Given the description of an element on the screen output the (x, y) to click on. 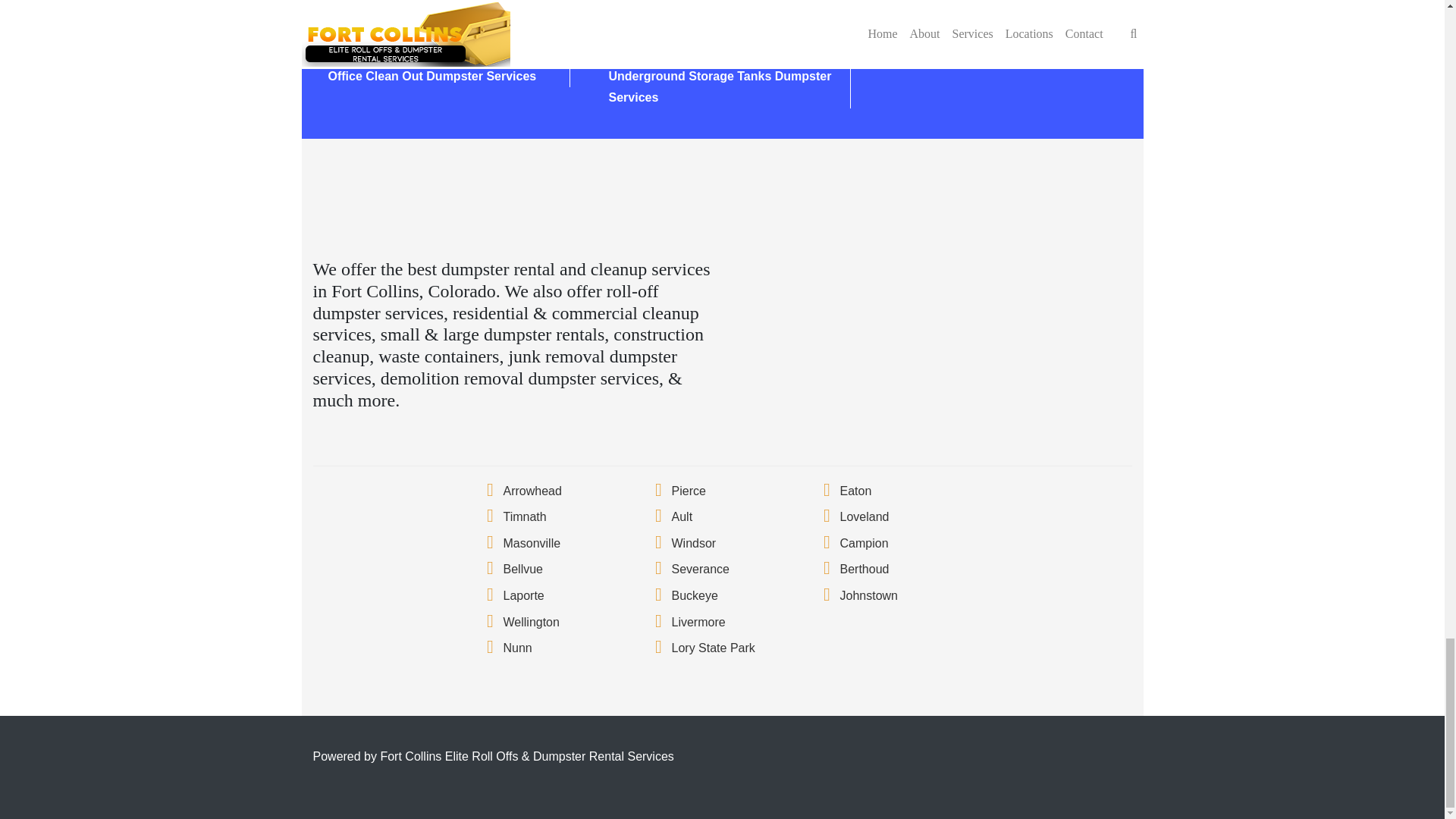
Construction Cleanup Dumpster Services (447, 11)
Office Clean Out Dumpster Services (431, 75)
Whole House Clean Out Dumpster Services (425, 44)
